Given the description of an element on the screen output the (x, y) to click on. 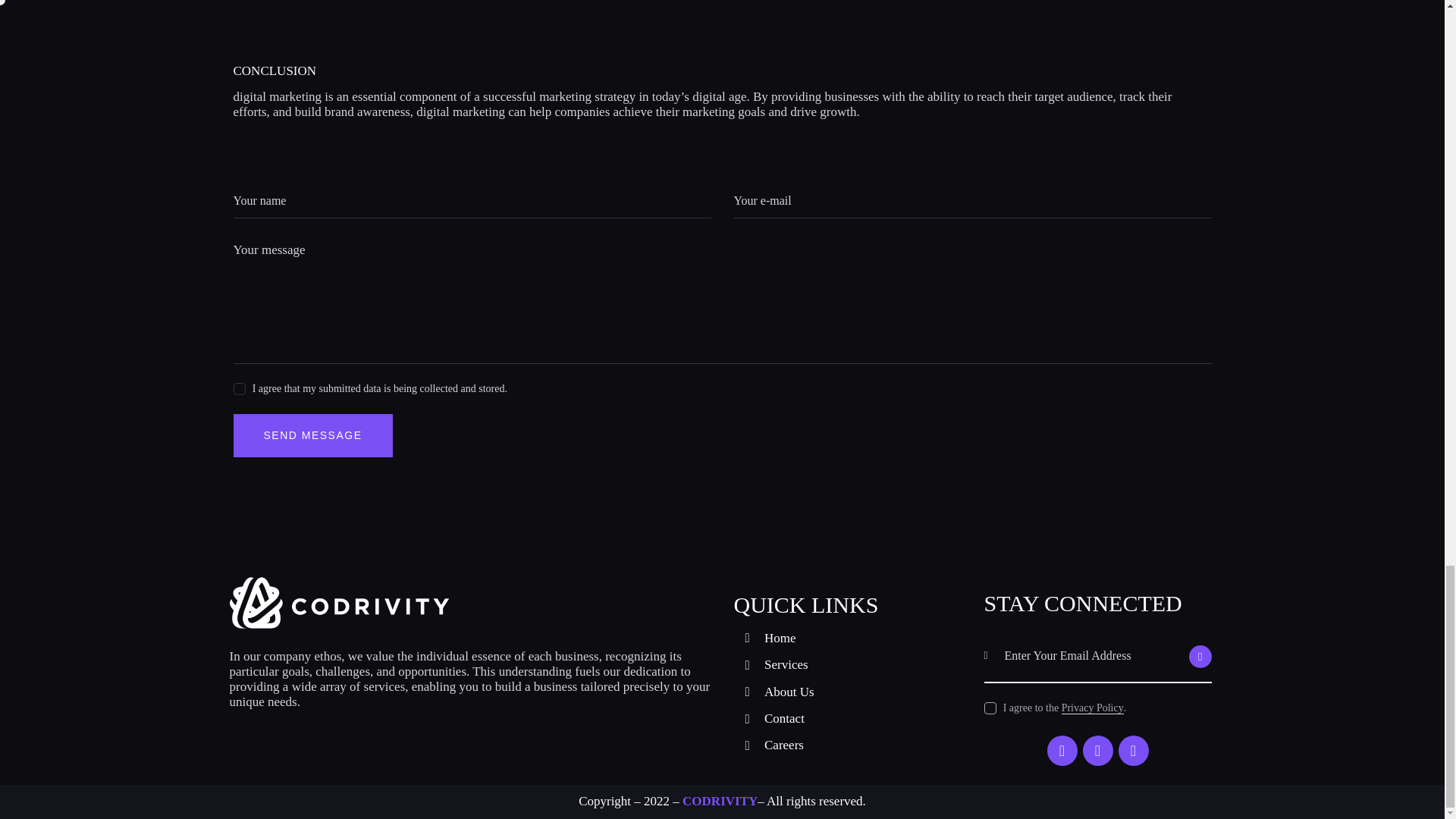
1 (1216, 634)
1 (237, 385)
